Given the description of an element on the screen output the (x, y) to click on. 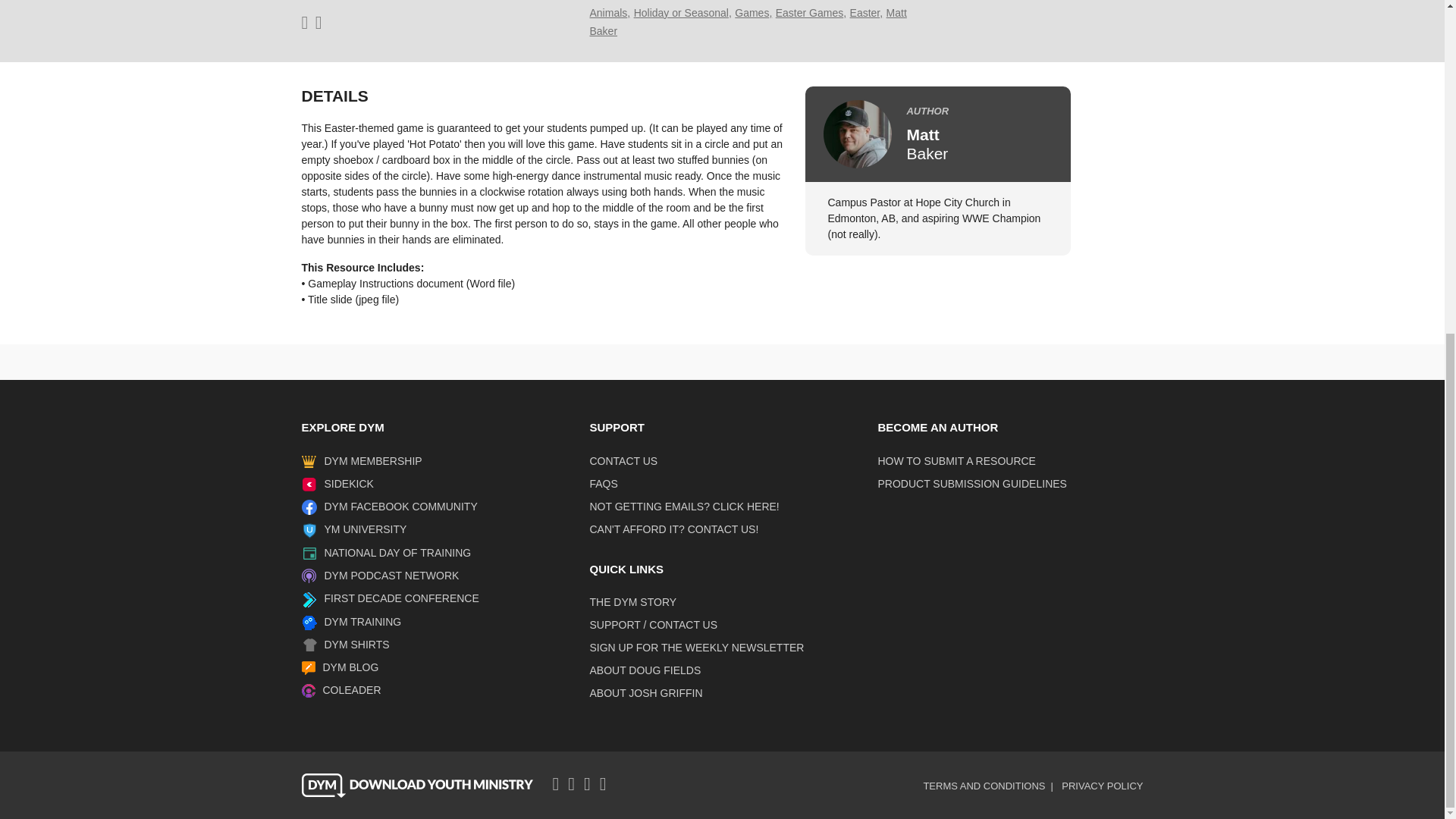
Go to DYM Facebook Page (397, 506)
Go to Sidekick (345, 483)
Go to YM University (362, 529)
